Given the description of an element on the screen output the (x, y) to click on. 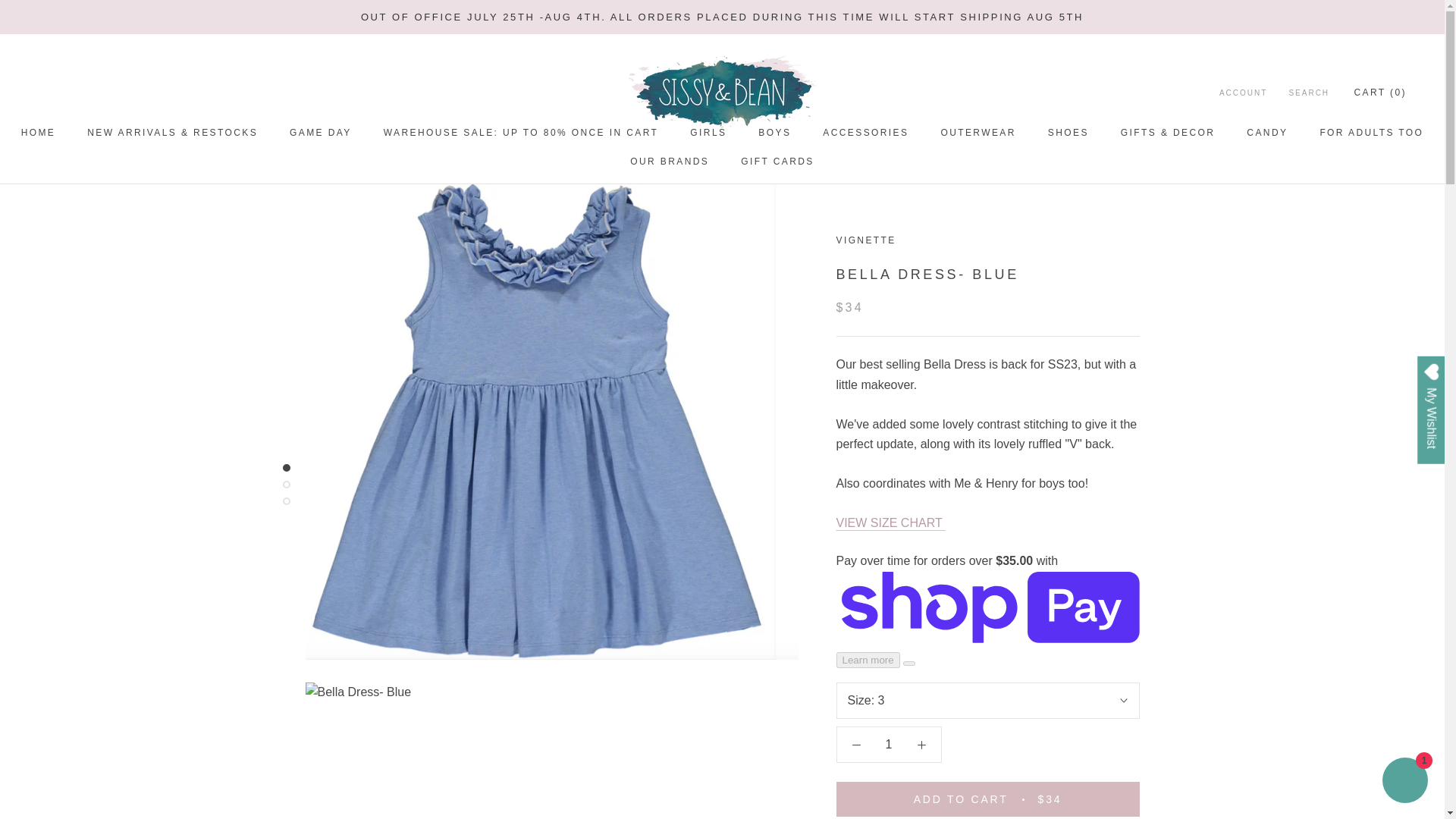
Shopify online store chat (1404, 781)
SEARCH (1266, 132)
VIG (865, 132)
1 (708, 132)
ACCOUNT (1308, 92)
